Given the description of an element on the screen output the (x, y) to click on. 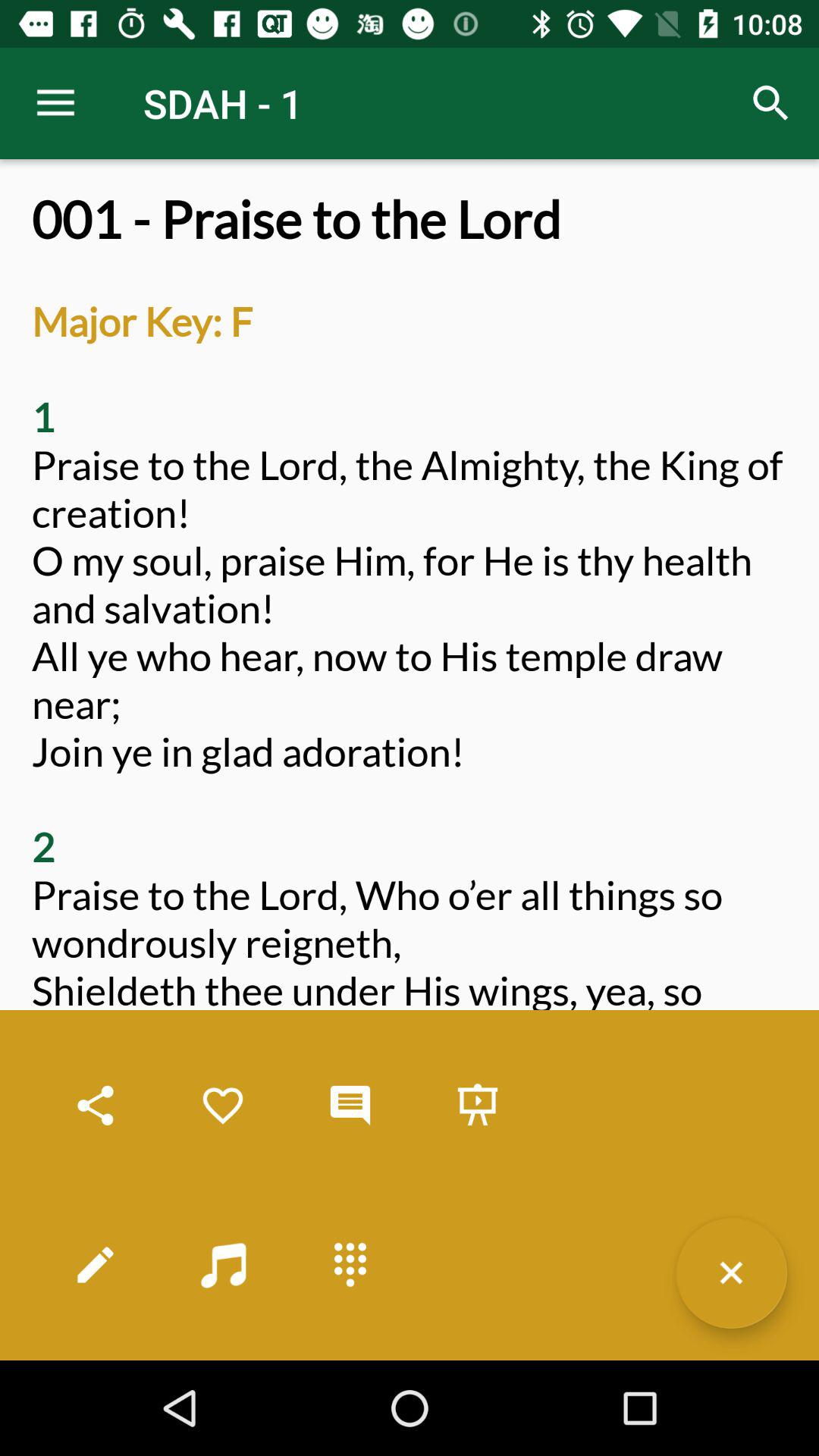
toggle storage option (477, 1105)
